Given the description of an element on the screen output the (x, y) to click on. 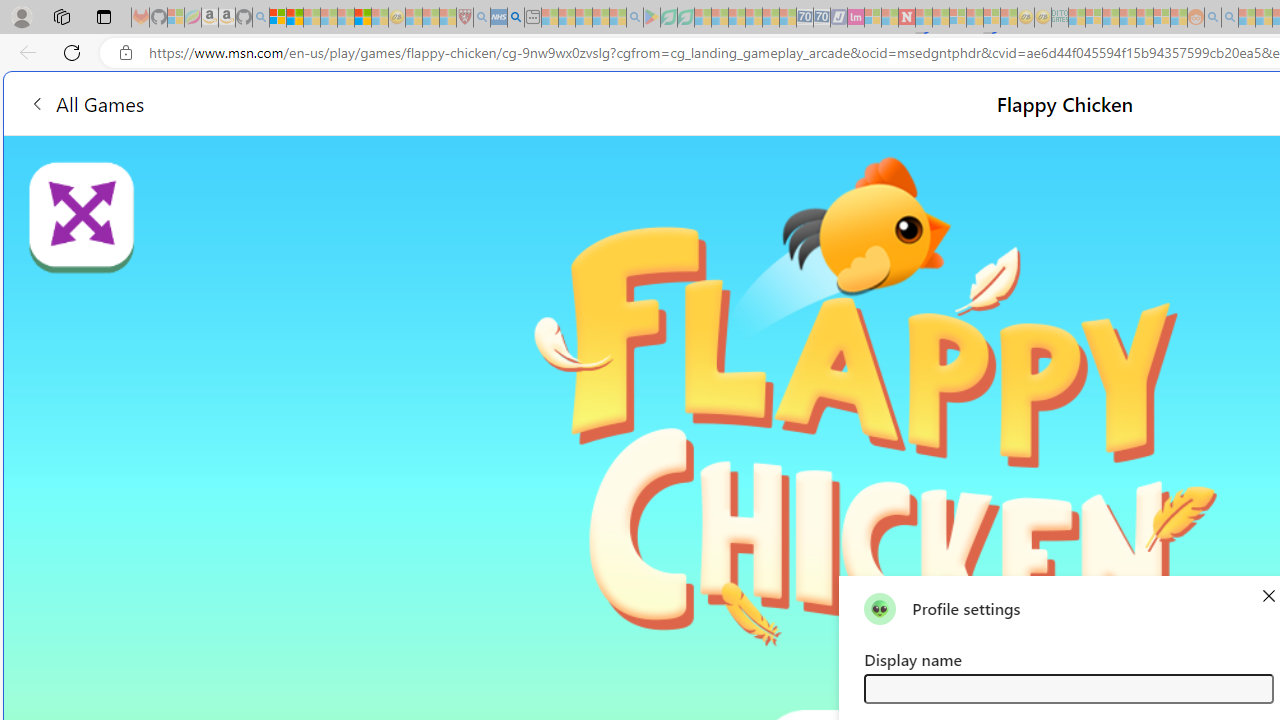
MSNBC - MSN - Sleeping (1076, 17)
Utah sues federal government - Search - Sleeping (1229, 17)
Trusted Community Engagement and Contributions | Guidelines (923, 17)
Kinda Frugal - MSN - Sleeping (1144, 17)
New Report Confirms 2023 Was Record Hot | Watch - Sleeping (345, 17)
Pets - MSN - Sleeping (600, 17)
